Given the description of an element on the screen output the (x, y) to click on. 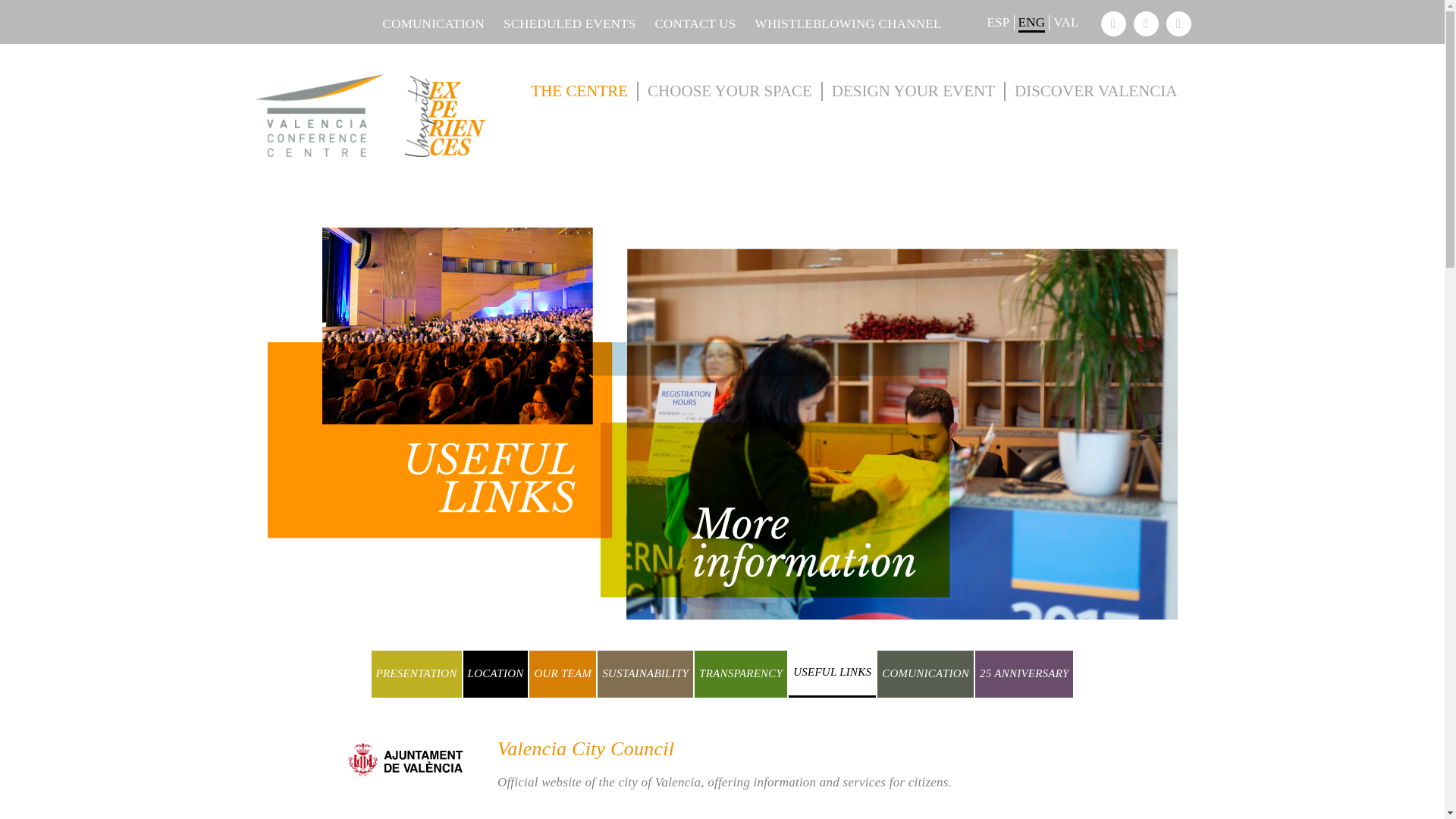
USEFUL LINKS (832, 673)
25 ANNIVERSARY (1024, 673)
CHOOSE YOUR SPACE (730, 90)
LinkedIn (1112, 23)
ESP (997, 22)
VAL (1066, 22)
SCHEDULED EVENTS (560, 23)
COMUNICATION (925, 673)
THE CENTRE (580, 90)
DISCOVER VALENCIA (1091, 90)
